Given the description of an element on the screen output the (x, y) to click on. 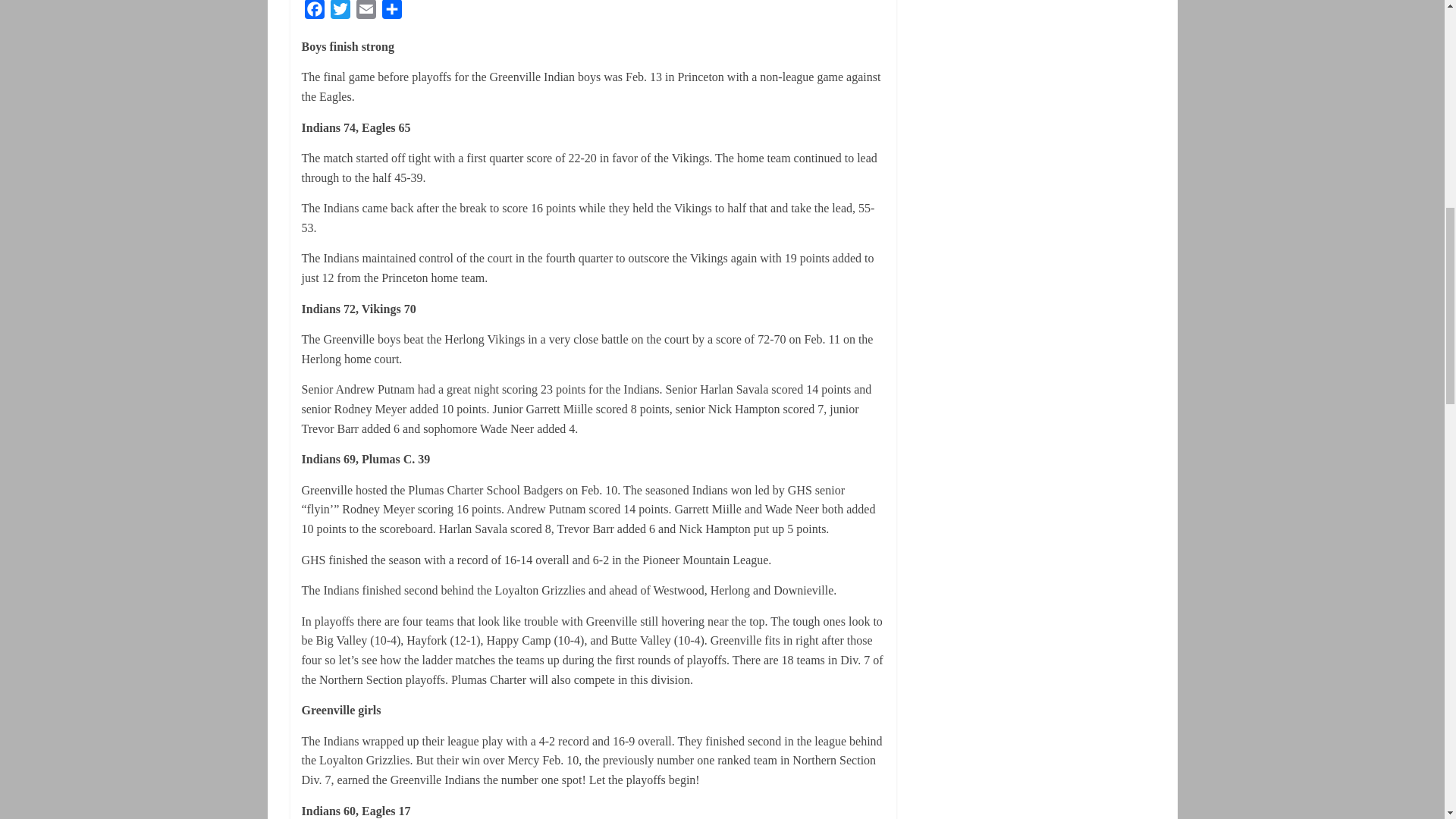
Email (365, 12)
Twitter (340, 12)
Facebook (314, 12)
